Given the description of an element on the screen output the (x, y) to click on. 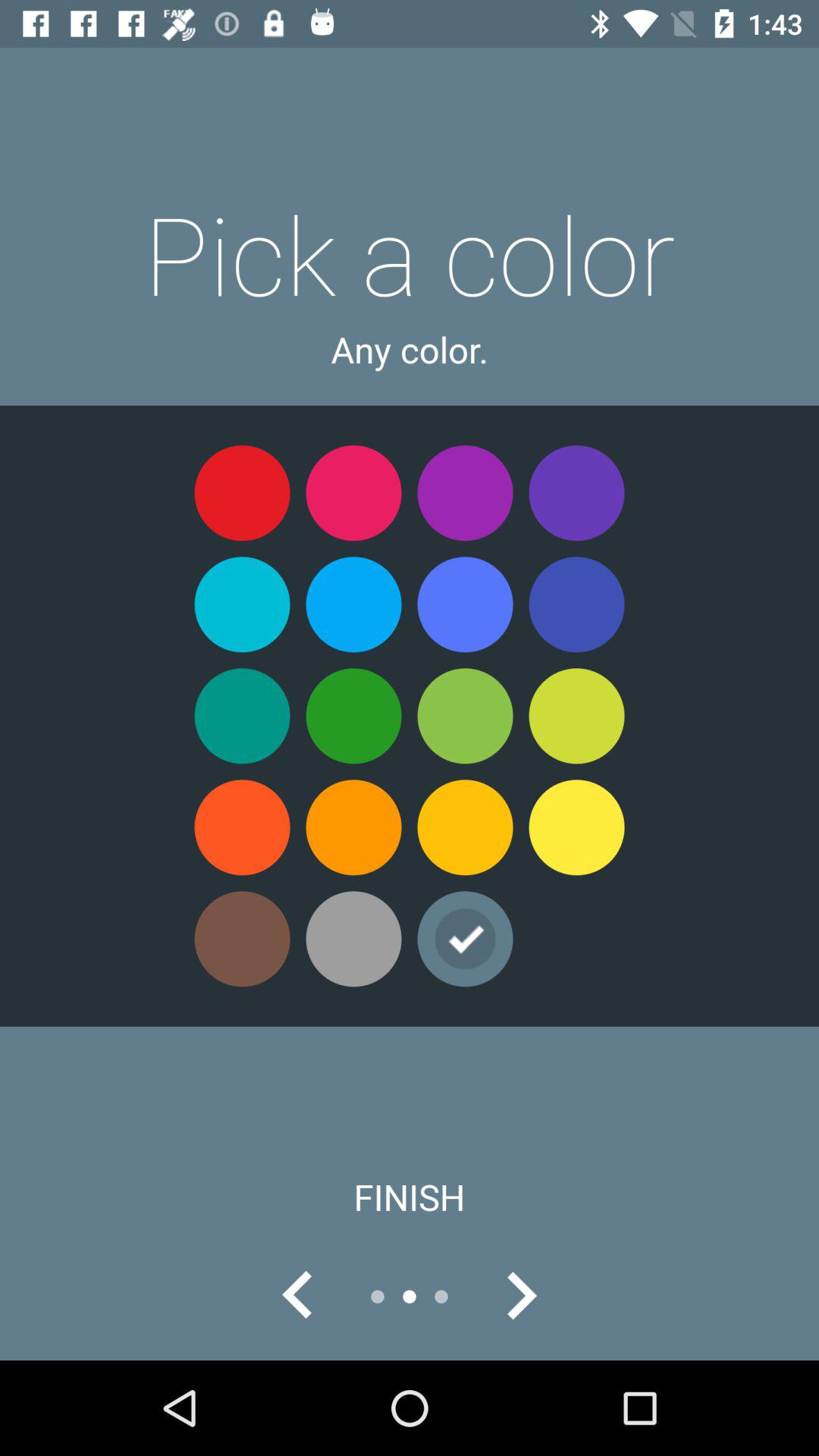
go back (297, 1296)
